Given the description of an element on the screen output the (x, y) to click on. 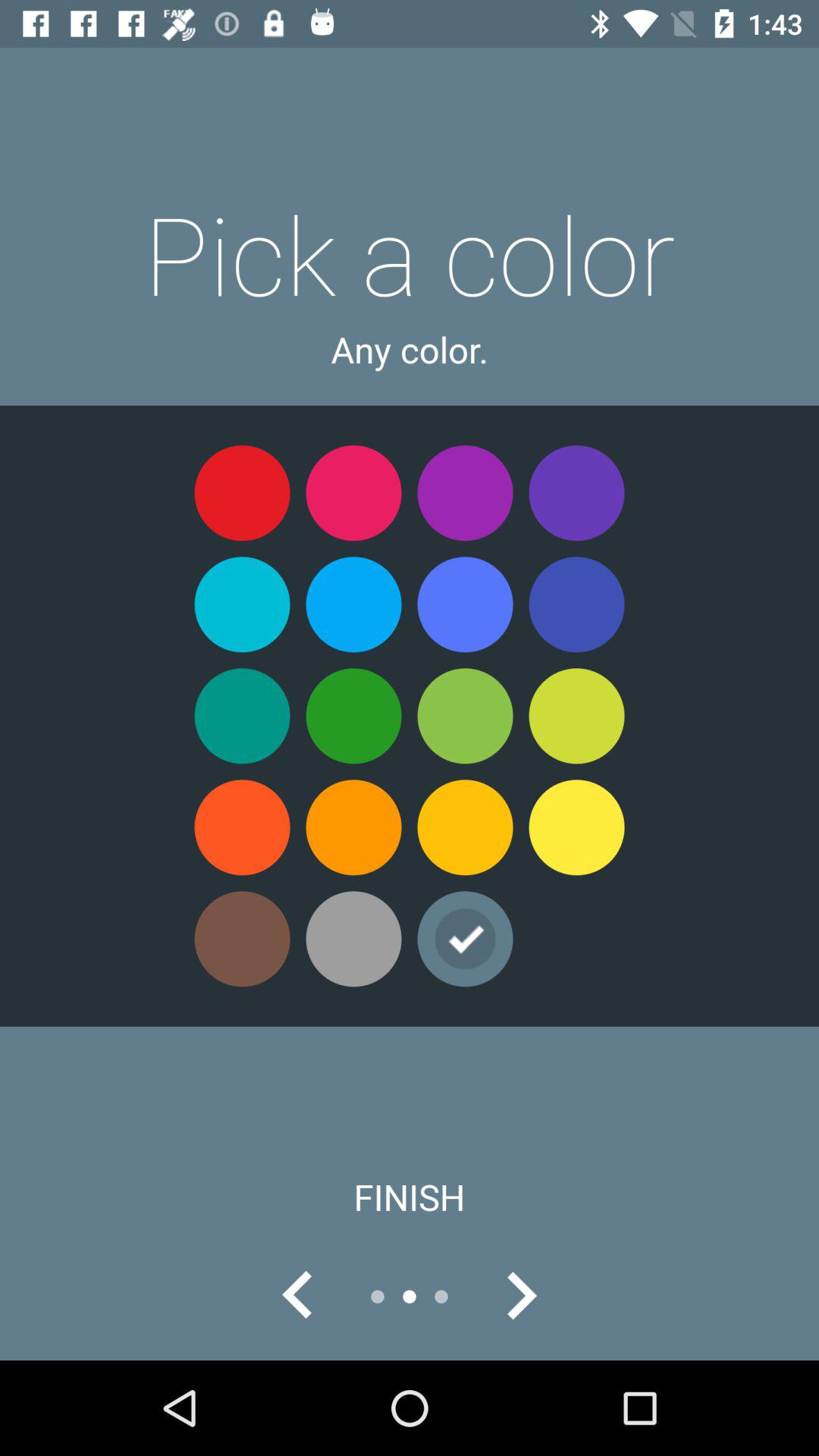
go back (297, 1296)
